Given the description of an element on the screen output the (x, y) to click on. 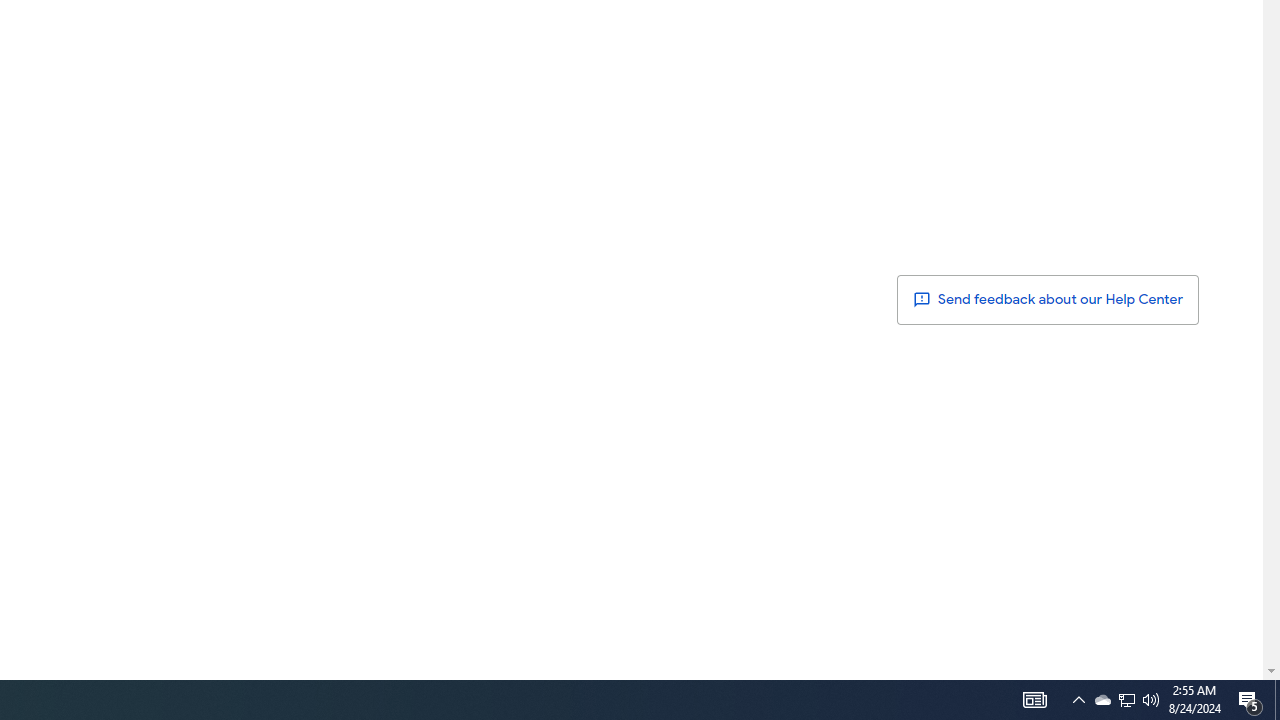
 Send feedback about our Help Center (1048, 299)
